Given the description of an element on the screen output the (x, y) to click on. 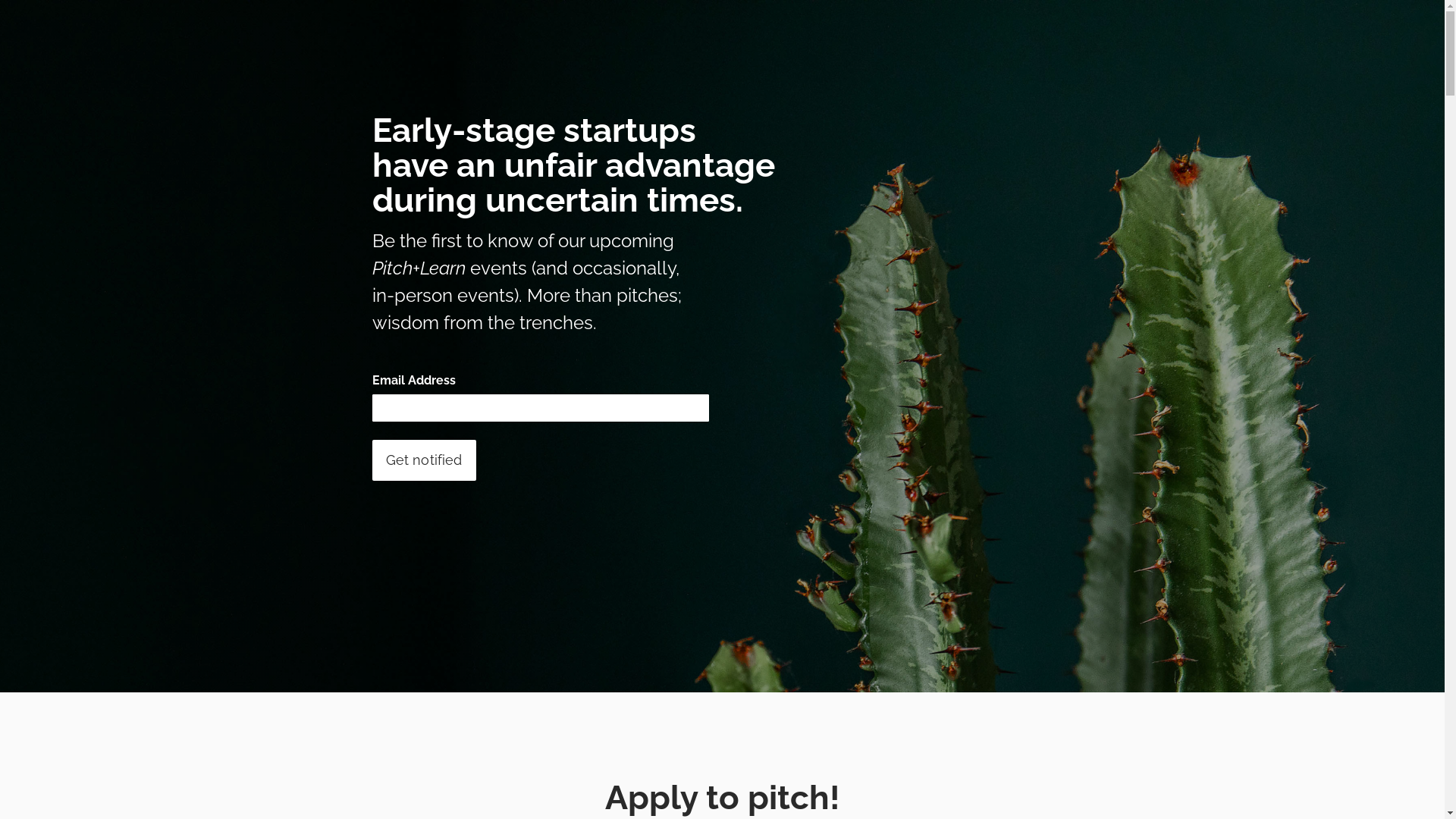
Get notified Element type: text (423, 459)
